Given the description of an element on the screen output the (x, y) to click on. 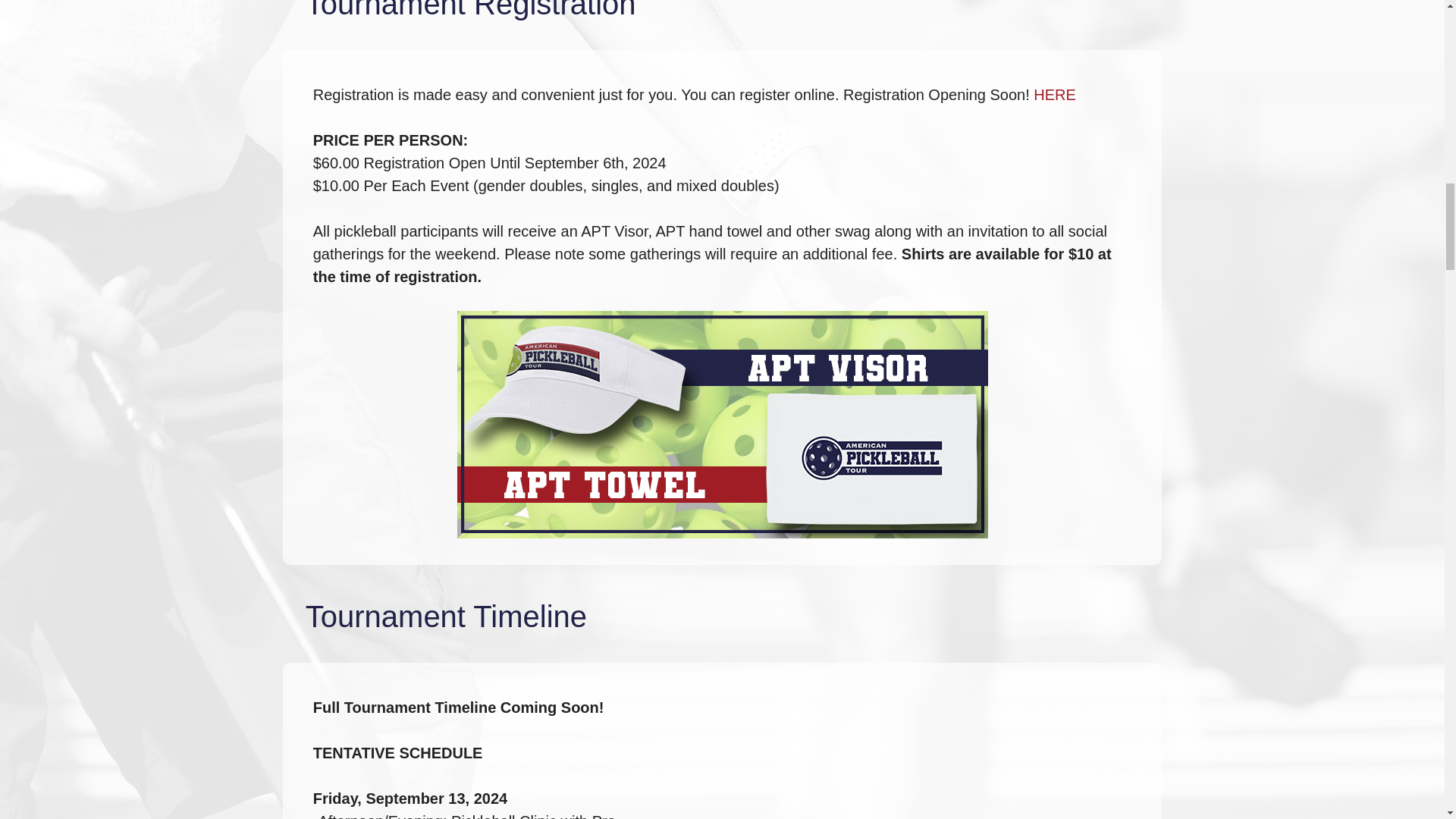
HERE (1054, 94)
